Given the description of an element on the screen output the (x, y) to click on. 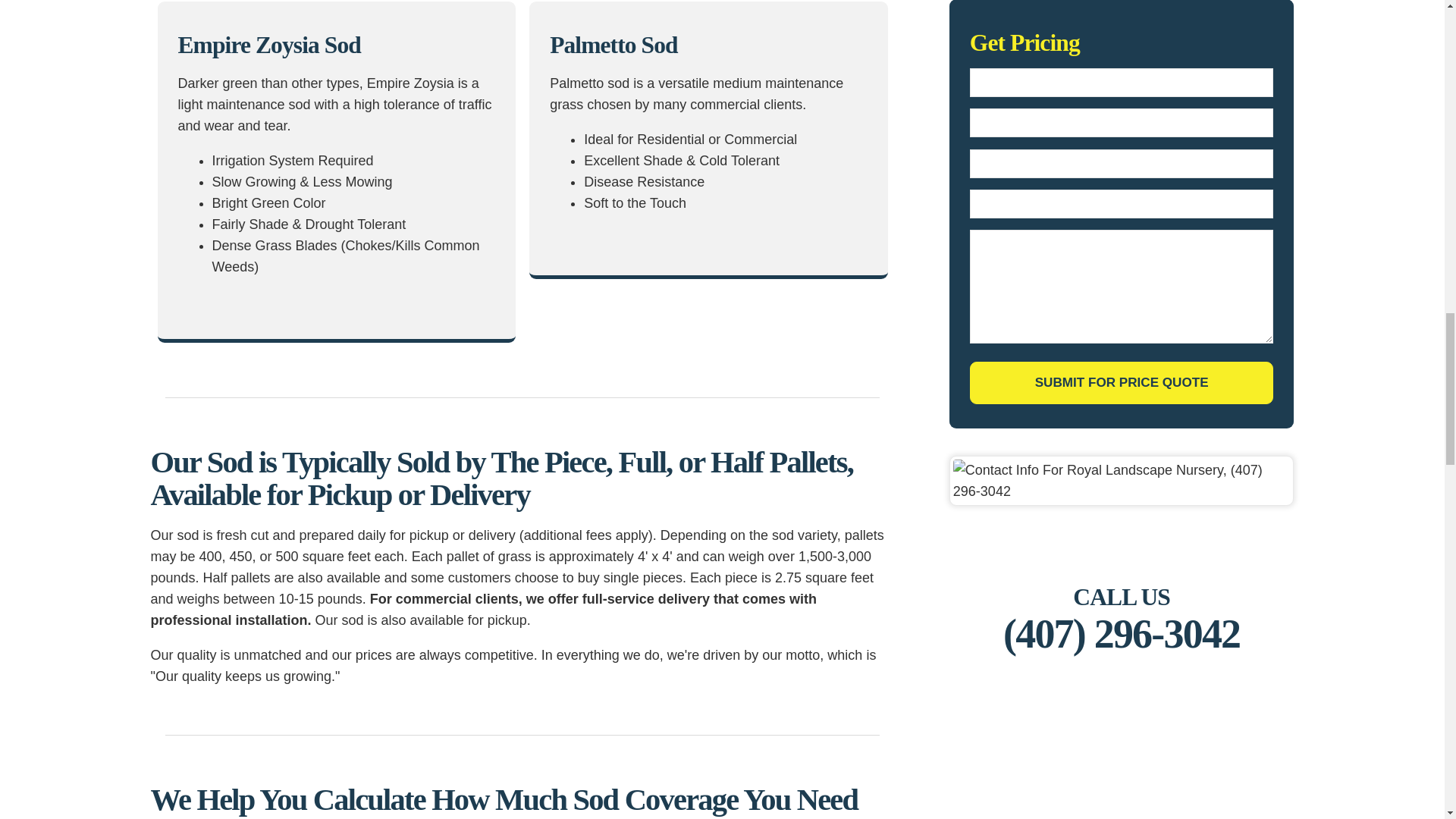
Submit For Price Quote (1121, 382)
